Given the description of an element on the screen output the (x, y) to click on. 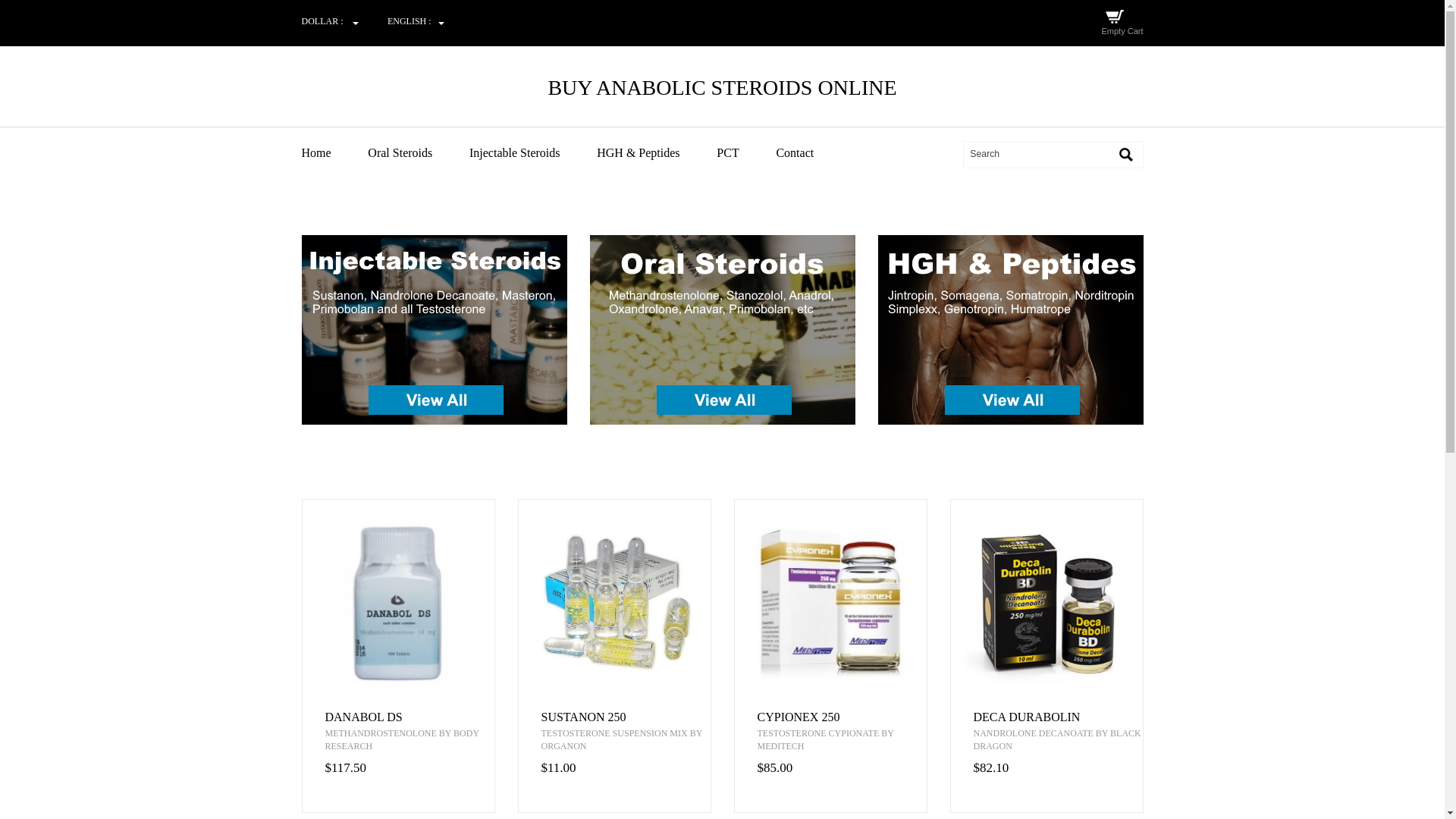
HGH & Peptides Element type: text (654, 153)
DANABOL DS Element type: text (408, 717)
CYPIONEX 250 Element type: text (840, 717)
Empty Cart Element type: text (1121, 30)
Home Element type: text (333, 153)
DECA DURABOLIN Element type: text (1057, 717)
SUSTANON 250 Element type: text (625, 717)
Oral Steroids Element type: text (416, 153)
Contact Element type: text (811, 153)
Injectable Steroids Element type: text (531, 153)
PCT Element type: text (744, 153)
